Given the description of an element on the screen output the (x, y) to click on. 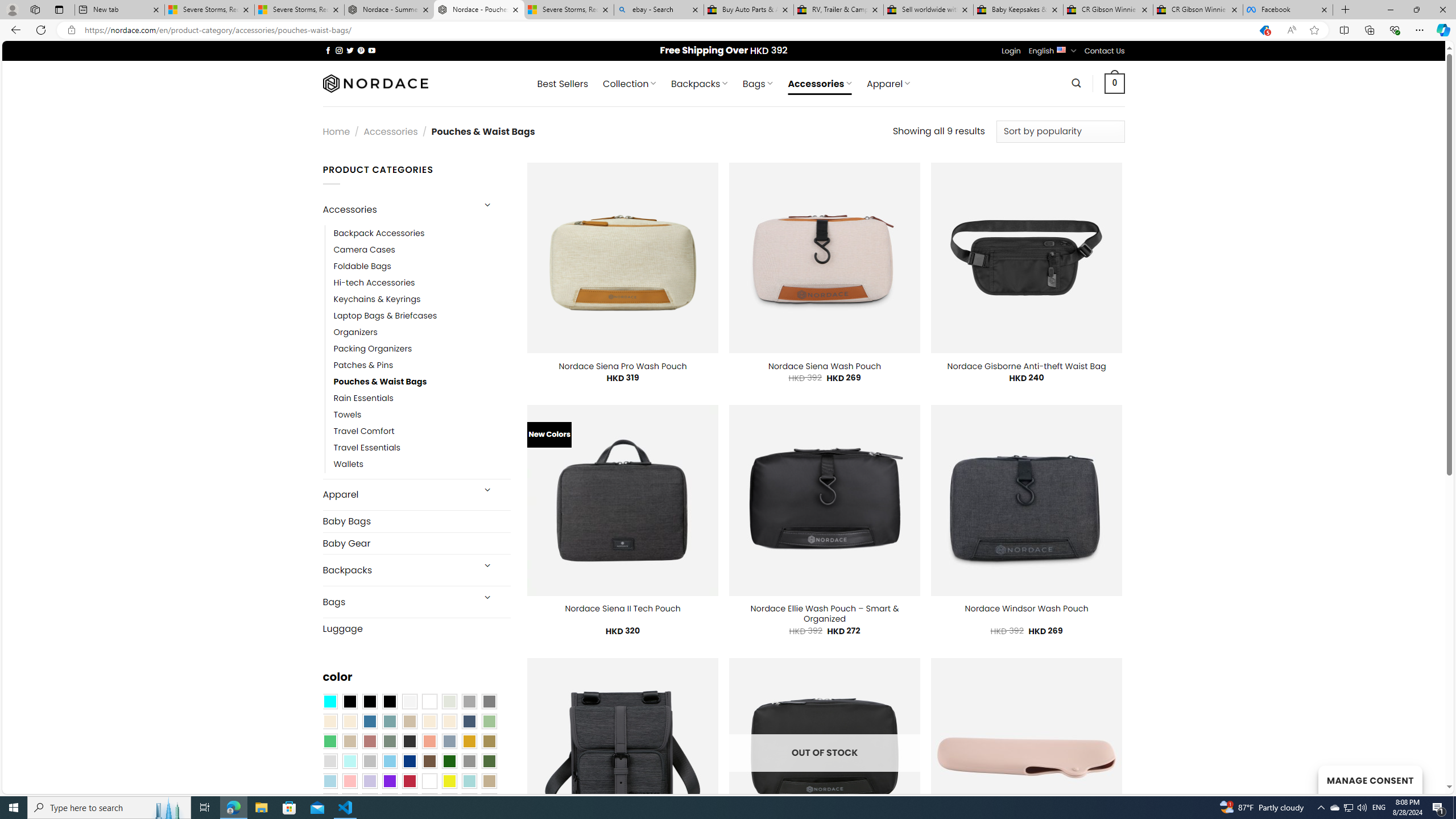
Travel Comfort (363, 431)
Nordace Siena Wash Pouch (823, 365)
Aqua Blue (329, 701)
Baby Bags (416, 521)
Travel Comfort (422, 431)
Beige (329, 721)
Luggage (416, 627)
MANAGE CONSENT (1369, 779)
Nordace - Pouches & Waist Bags (478, 9)
Foldable Bags (422, 265)
White (429, 780)
Coral (429, 741)
Kelp (488, 741)
